Given the description of an element on the screen output the (x, y) to click on. 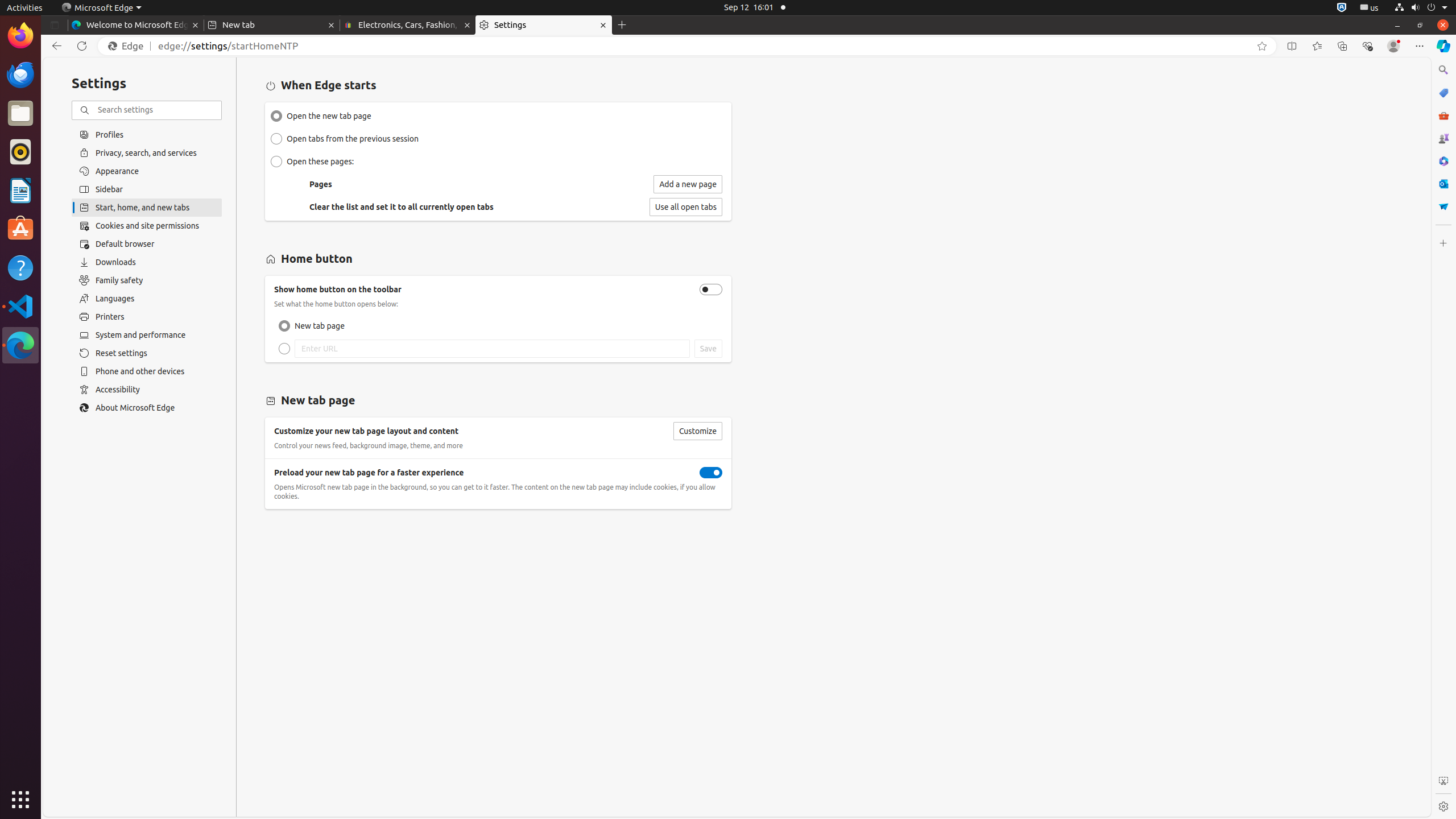
Ubuntu Software Element type: push-button (20, 229)
System and performance Element type: tree-item (146, 334)
Microsoft 365 Element type: push-button (1443, 160)
